Given the description of an element on the screen output the (x, y) to click on. 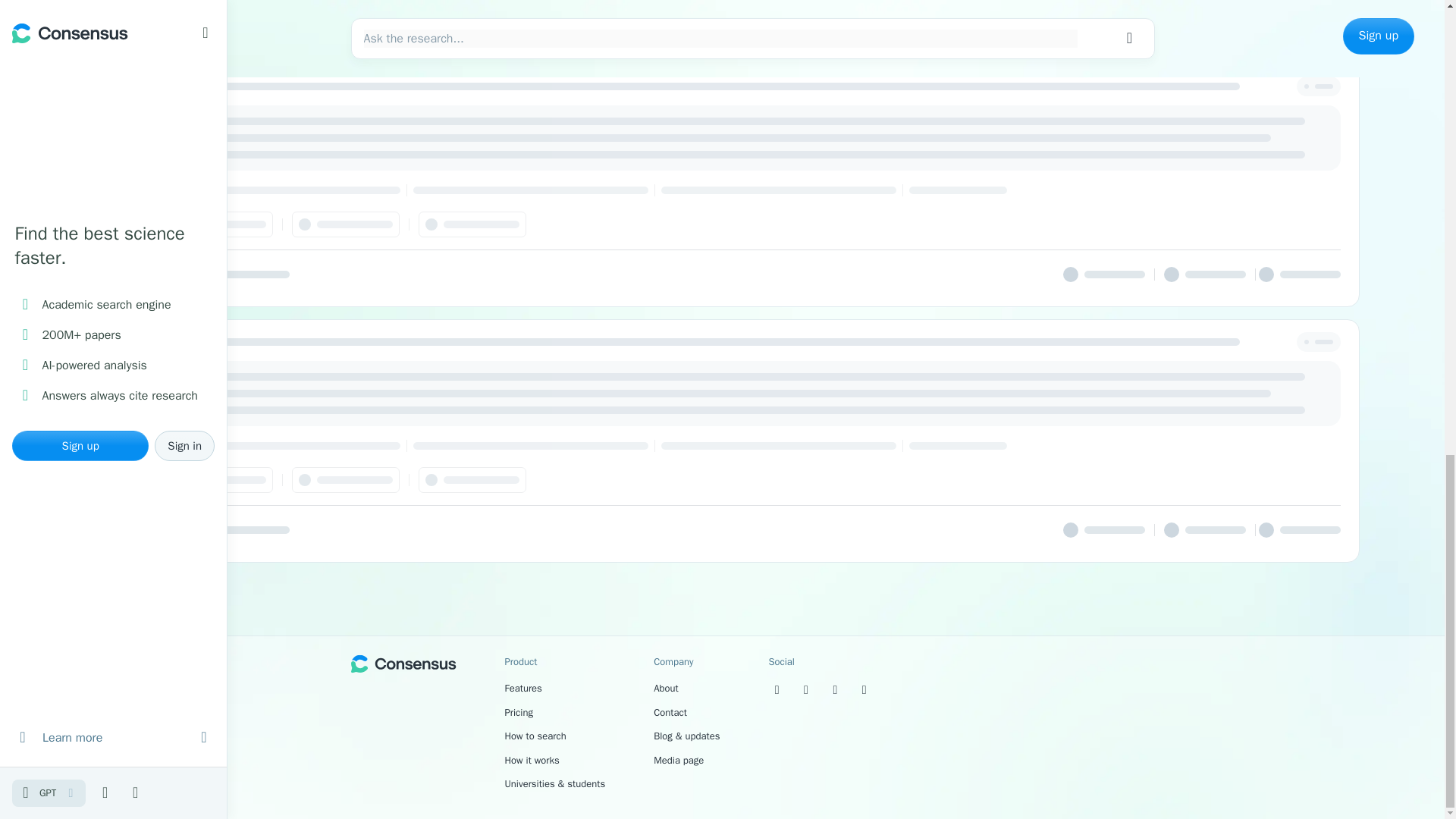
Pricing (518, 712)
How it works (532, 758)
About (665, 687)
Media page (678, 758)
Features (523, 687)
How to search (535, 735)
Contact (670, 712)
